Given the description of an element on the screen output the (x, y) to click on. 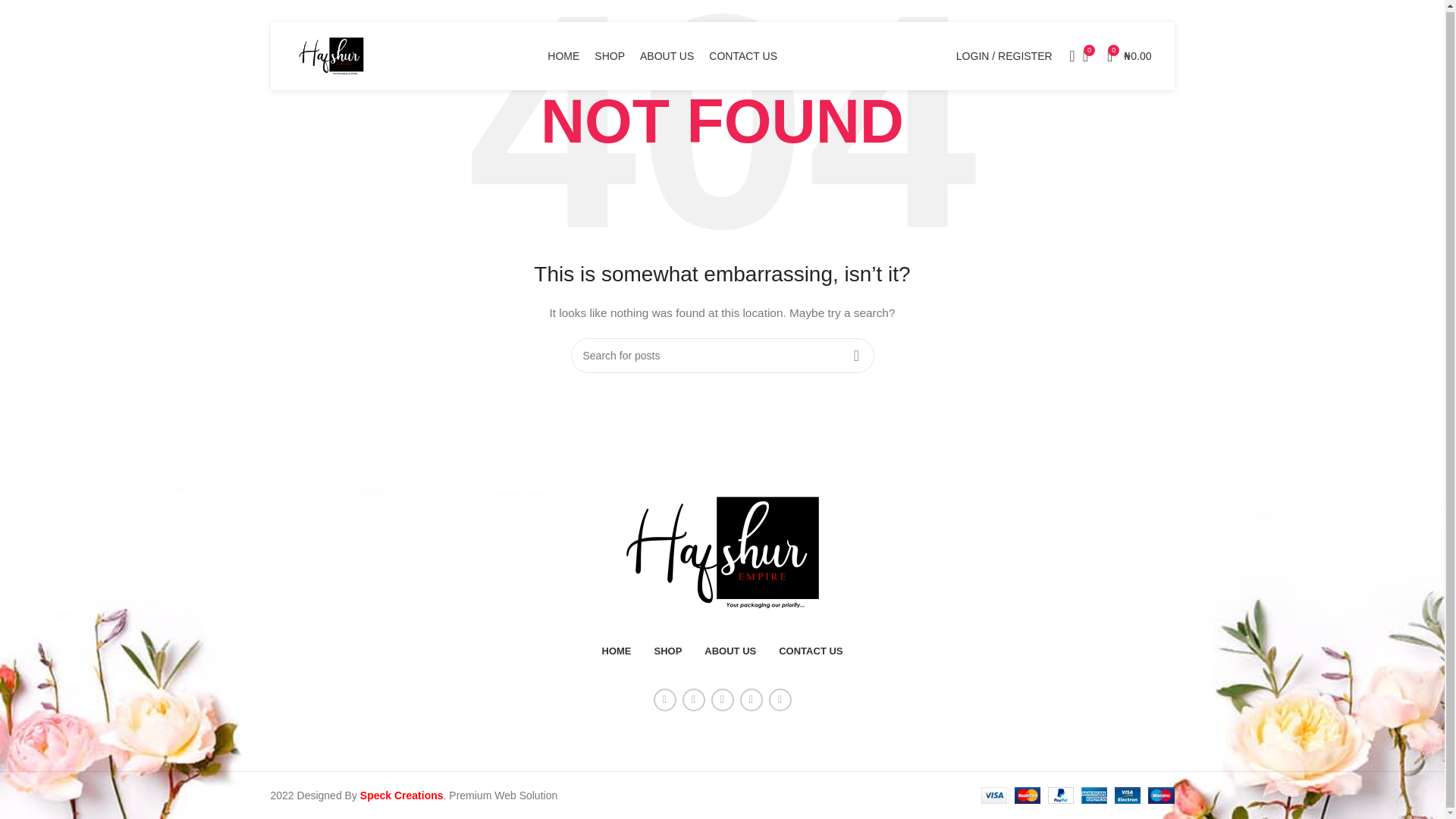
Search for posts (721, 355)
SHOP (667, 651)
CONTACT US (743, 55)
Shopping cart (1128, 55)
Speck Creations (401, 795)
SHOP (609, 55)
SEARCH (855, 355)
CONTACT US (810, 651)
My account (1004, 55)
HOME (563, 55)
